Given the description of an element on the screen output the (x, y) to click on. 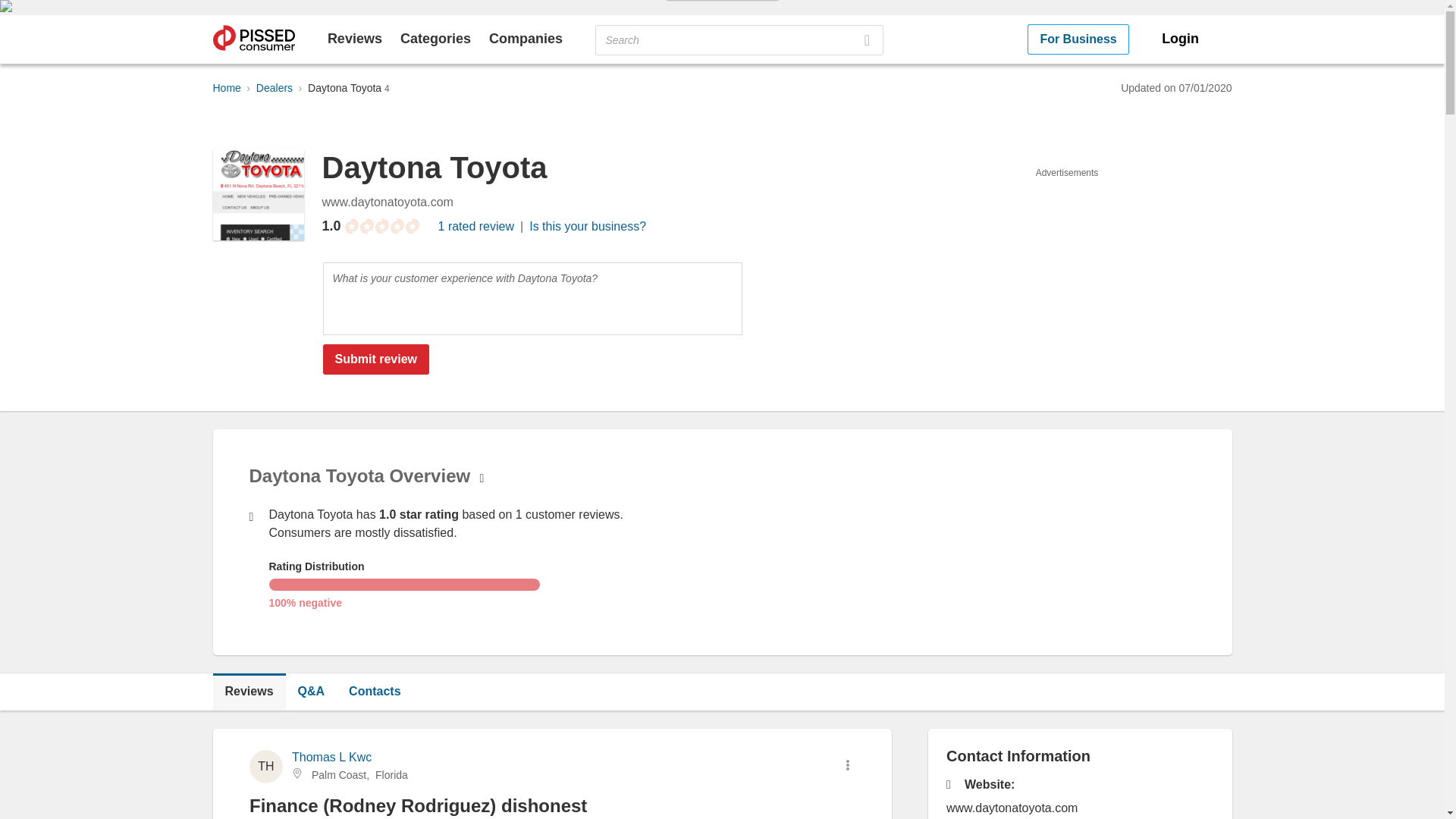
PissedConsumer (253, 39)
For Business (1077, 39)
Contacts (374, 691)
Thomas L Kwc (331, 757)
Dealers (274, 87)
Companies (525, 38)
Reviews (248, 691)
Submit review (376, 358)
Thomas L Kwc - Profile Info (331, 757)
Categories (435, 38)
